Given the description of an element on the screen output the (x, y) to click on. 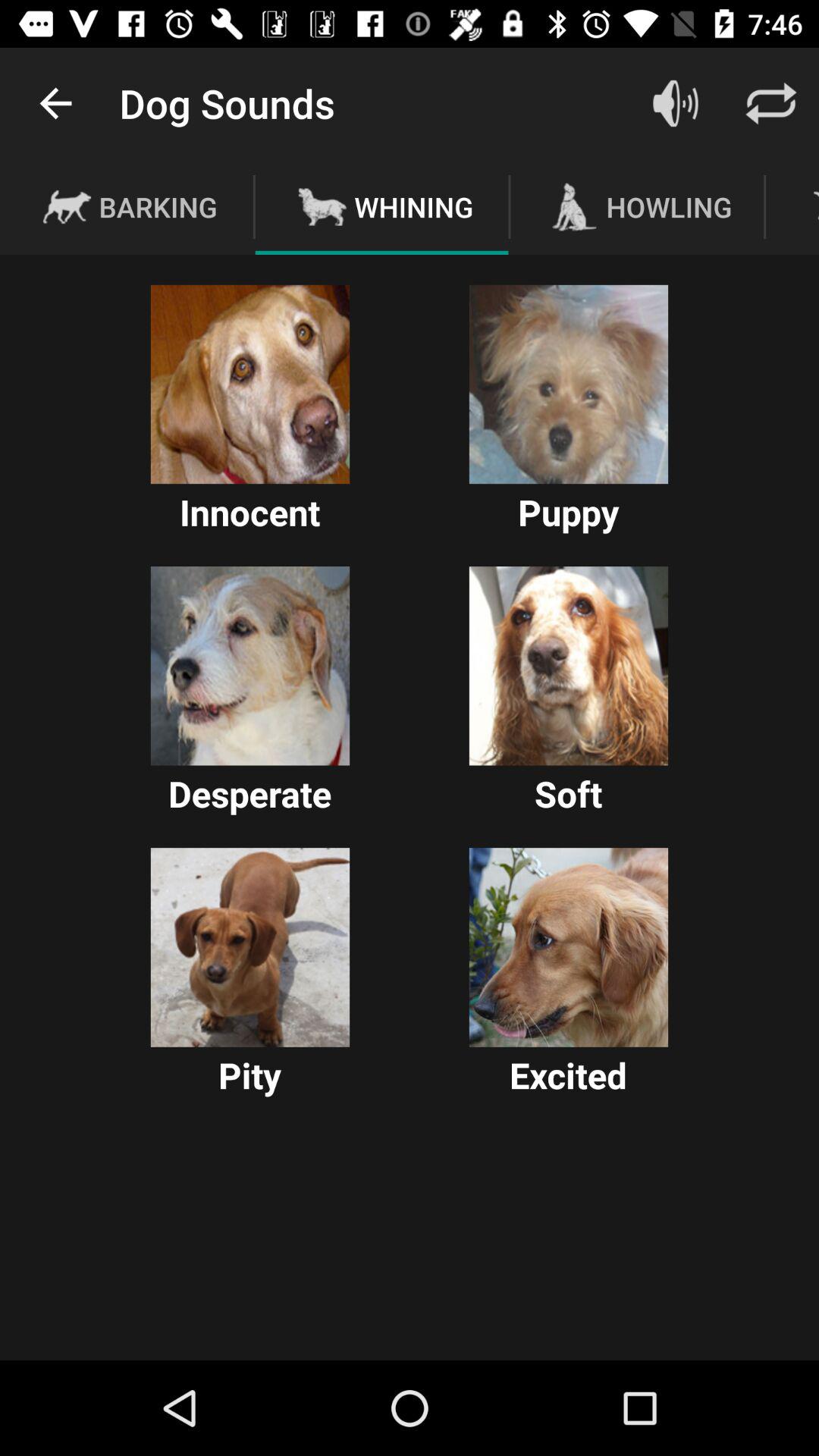
select the desperate dog below the innocent dog and left to the soft dog (249, 665)
go to top of soft (568, 665)
click the image which is above innocent (249, 384)
